Given the description of an element on the screen output the (x, y) to click on. 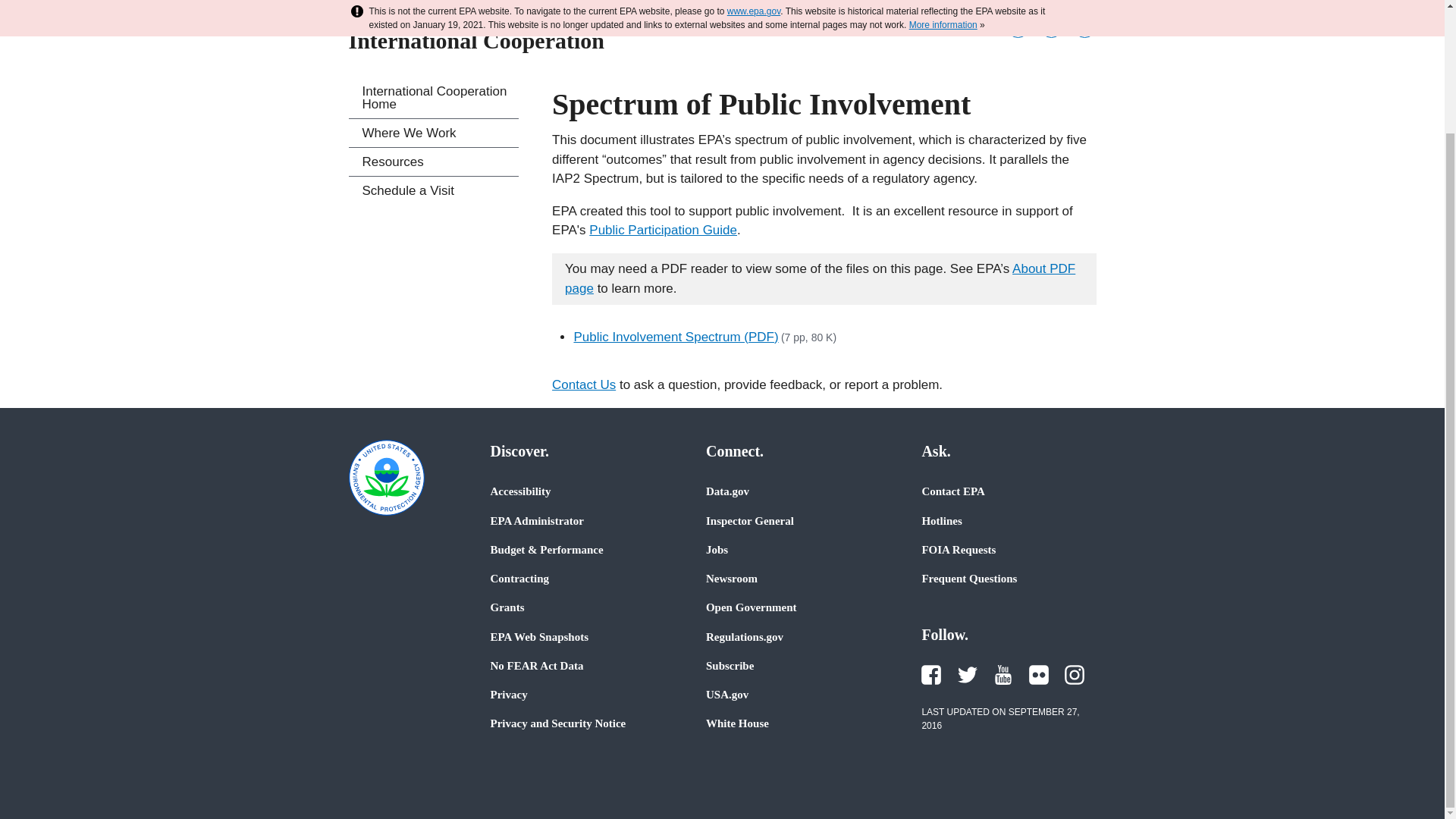
Environmental Topics (420, 3)
About EPA (673, 3)
CONTACT US (886, 25)
